Given the description of an element on the screen output the (x, y) to click on. 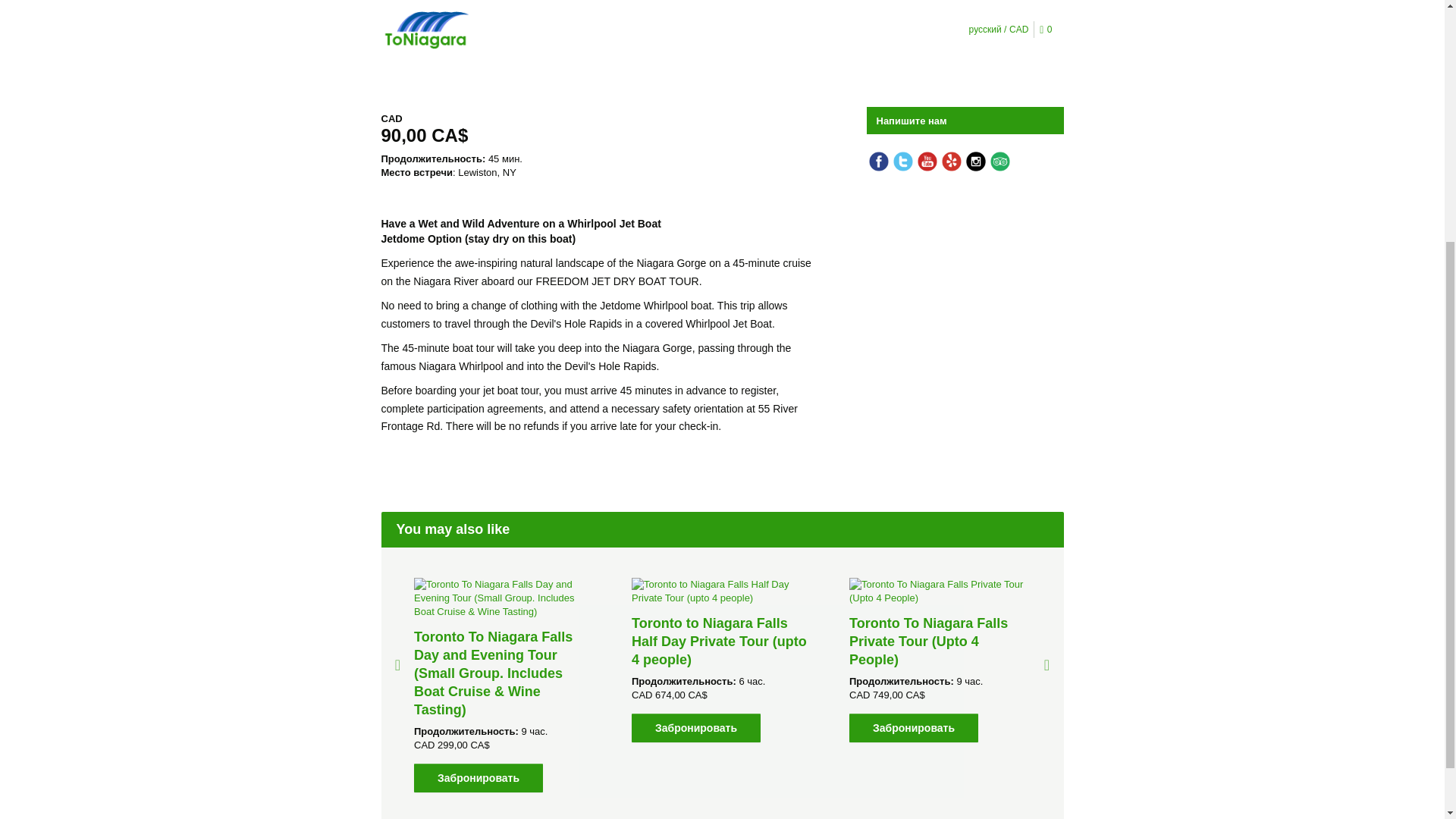
Estimated conversion from 90 (600, 135)
